Given the description of an element on the screen output the (x, y) to click on. 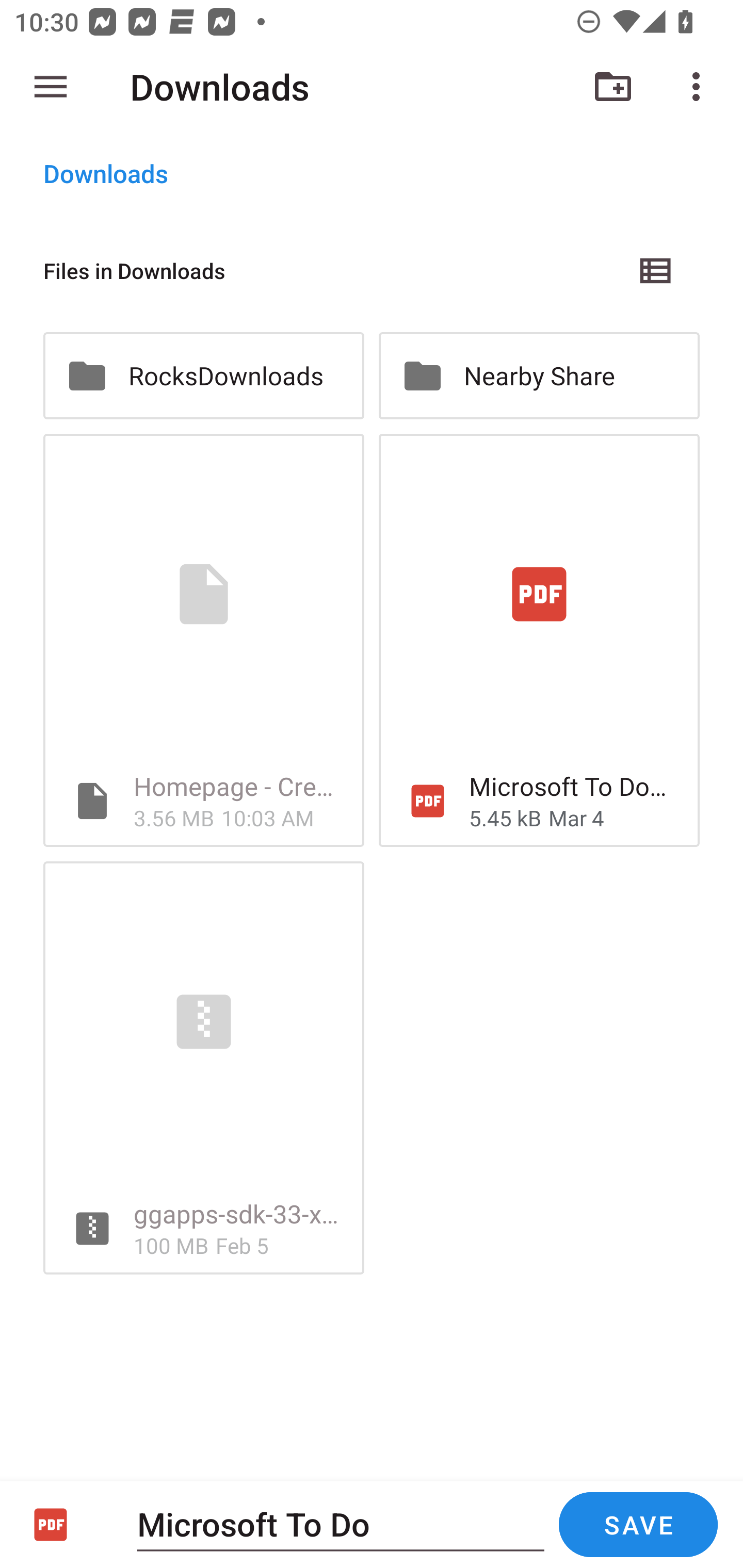
Show roots (50, 86)
New folder (612, 86)
More options (699, 86)
List view (655, 270)
RocksDownloads (203, 375)
Nearby Share (538, 375)
Homepage - Creative Commons 3.56 MB 10:03 AM (203, 640)
Microsoft To DoFlight Booking.pdf 5.45 kB Mar 4 (538, 640)
ggapps-sdk-33-x86_64-20231003.zip 100 MB Feb 5 (203, 1067)
SAVE (637, 1524)
Microsoft To Do (340, 1523)
